Given the description of an element on the screen output the (x, y) to click on. 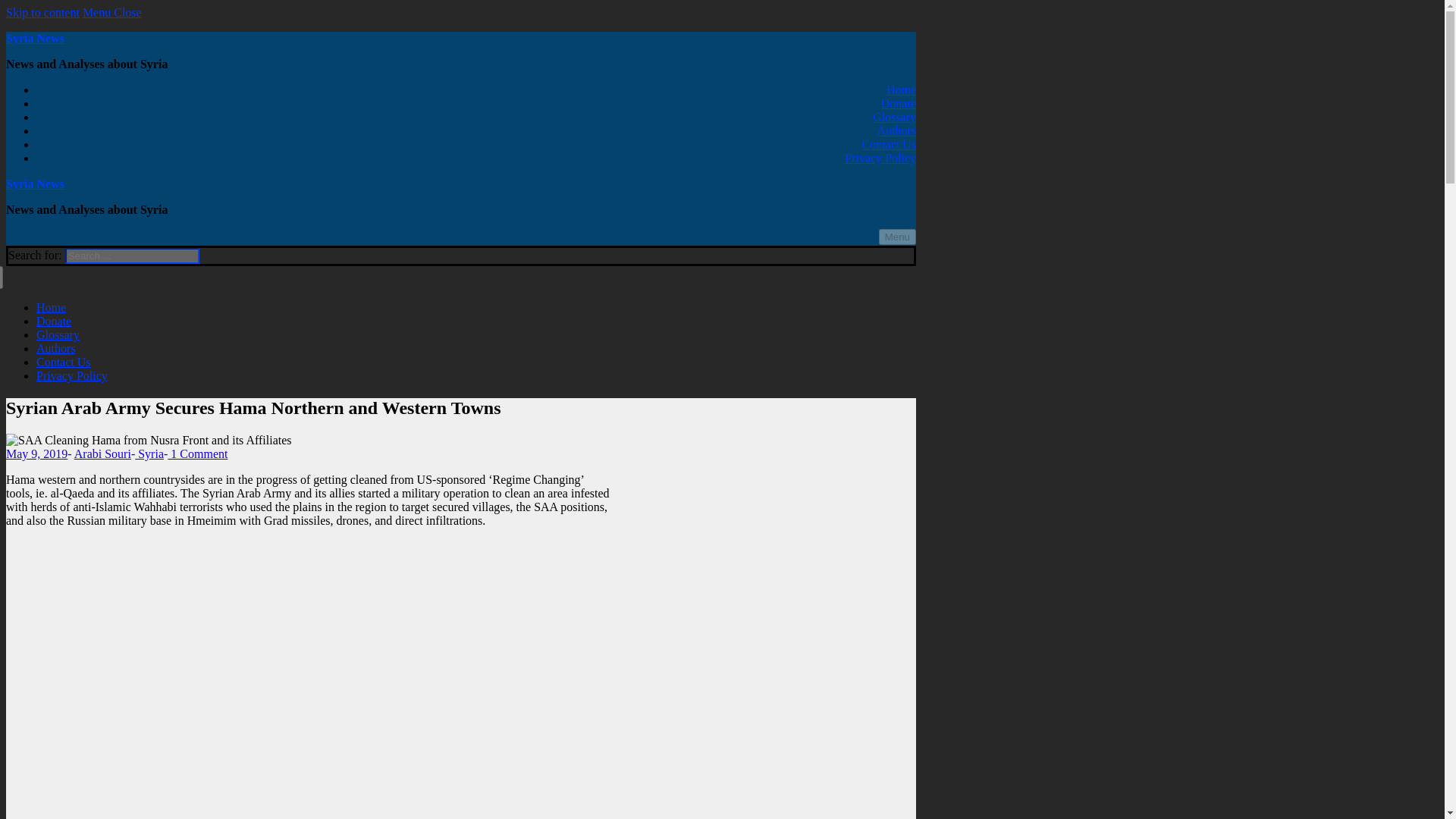
Menu (897, 236)
Contact Us (888, 144)
1 Comment (197, 453)
Authors (55, 348)
Privacy Policy (71, 375)
Glossary (893, 116)
Menu Close (111, 11)
Home (50, 307)
Glossary (58, 334)
Syria News (34, 38)
Syria News (34, 183)
Donate (897, 103)
Contact Us (63, 361)
Arabi Souri (102, 453)
Donate (53, 320)
